Given the description of an element on the screen output the (x, y) to click on. 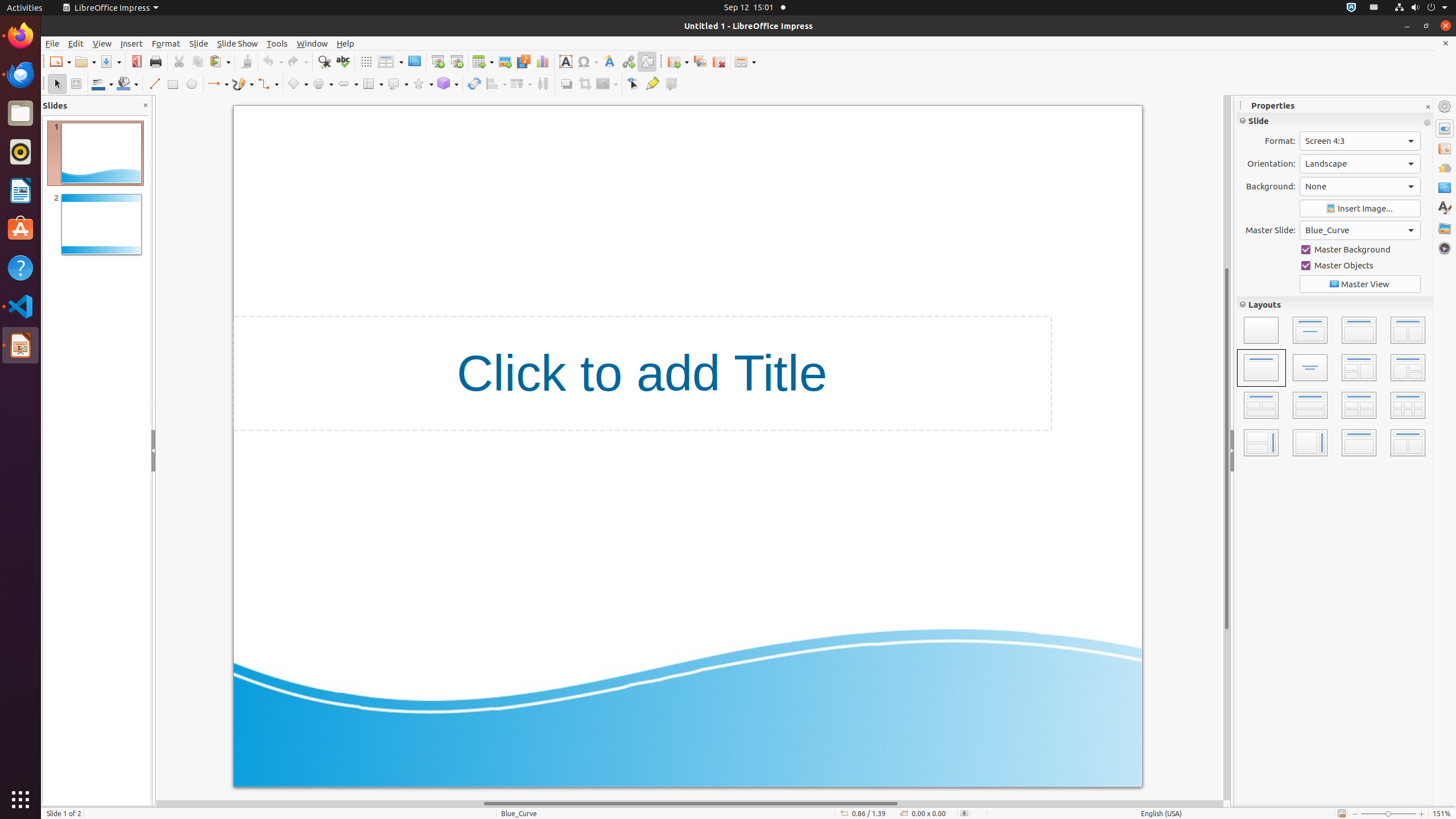
File Element type: menu (51, 43)
Callout Shapes Element type: push-button (397, 83)
Hanging Indent Element type: push-button (1372, 276)
Subscript Element type: toggle-button (1422, 192)
Bottom Element type: toggle-button (1422, 234)
